Given the description of an element on the screen output the (x, y) to click on. 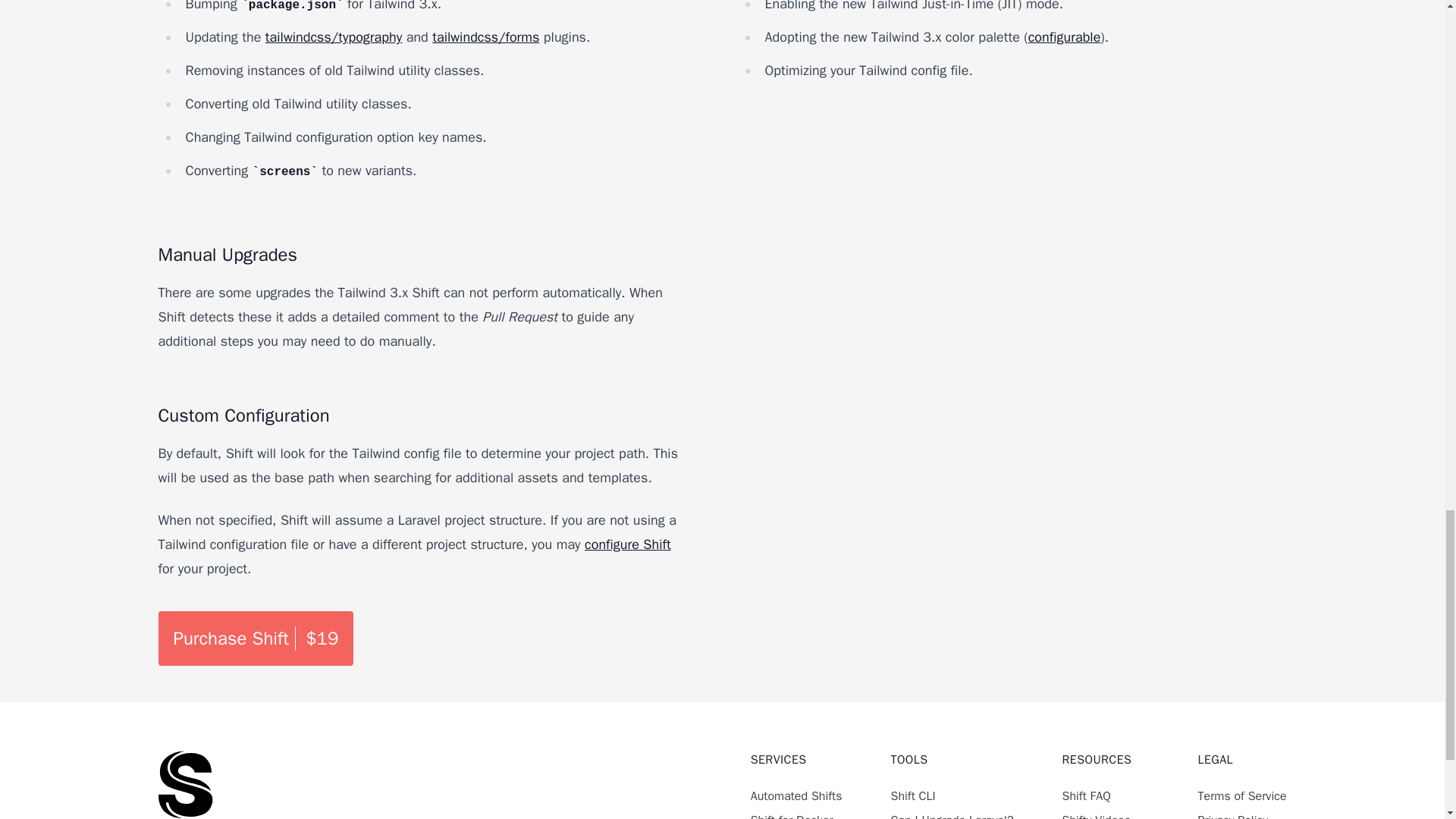
configure Shift (628, 544)
Shift CLI (911, 795)
Shift for Docker (791, 816)
Review frequently asked questions (1085, 795)
Automated Shifts (797, 795)
Check if you can upgrade Laravel (951, 816)
Can I Upgrade Laravel? (951, 816)
Informational Shift Videos (1096, 816)
Read the Privacy Policy (1233, 816)
Terms of Service (1242, 795)
Shift FAQ (1085, 795)
Privacy Policy (1233, 816)
See all Shifts (797, 795)
Shifty Videos (1096, 816)
Purchase Tailwind 3.x Shift (255, 637)
